Given the description of an element on the screen output the (x, y) to click on. 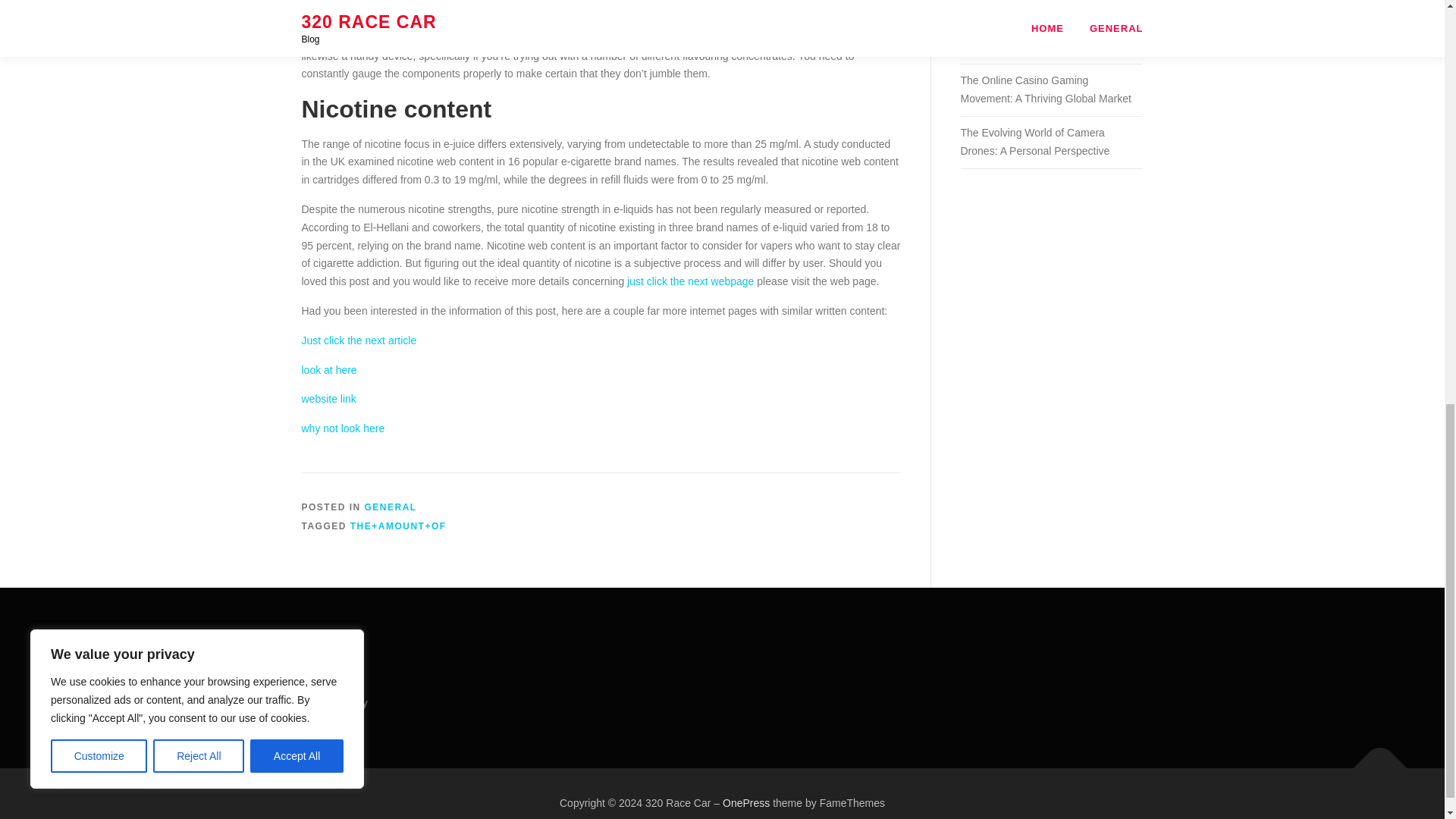
GENERAL (390, 507)
why not look here (343, 428)
Just click the next article (358, 340)
look at here (328, 369)
Back To Top (1372, 760)
website link (328, 398)
just click the next webpage (690, 281)
